Given the description of an element on the screen output the (x, y) to click on. 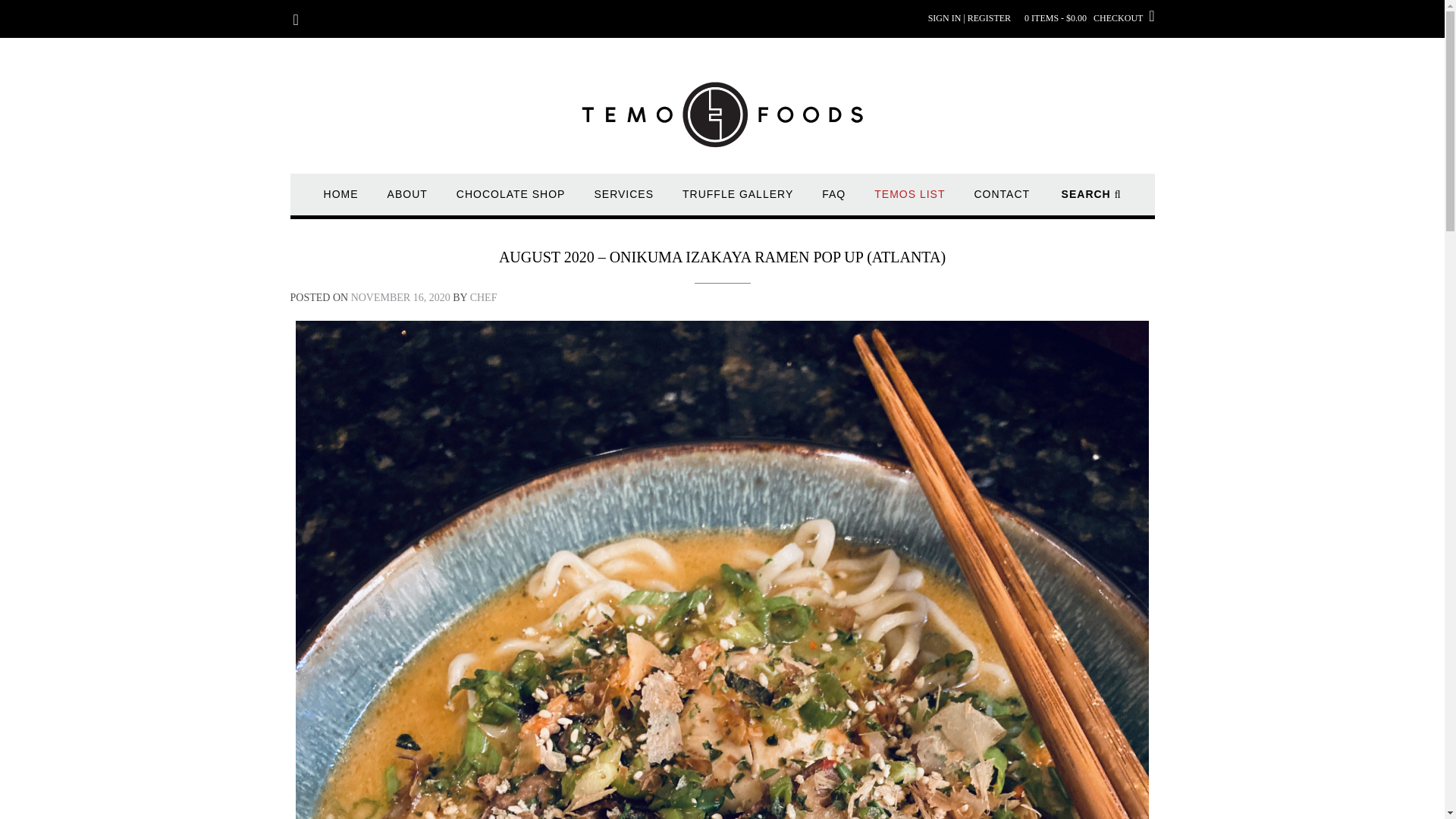
NOVEMBER 16, 2020 (399, 297)
CONTACT (1001, 201)
ABOUT (407, 201)
CHOCOLATE SHOP (511, 201)
TEMOS LIST (909, 201)
HOME (340, 201)
SERVICES (623, 201)
SEARCH (1091, 201)
FAQ (833, 201)
CHEF (483, 297)
TRUFFLE GALLERY (737, 201)
